Given the description of an element on the screen output the (x, y) to click on. 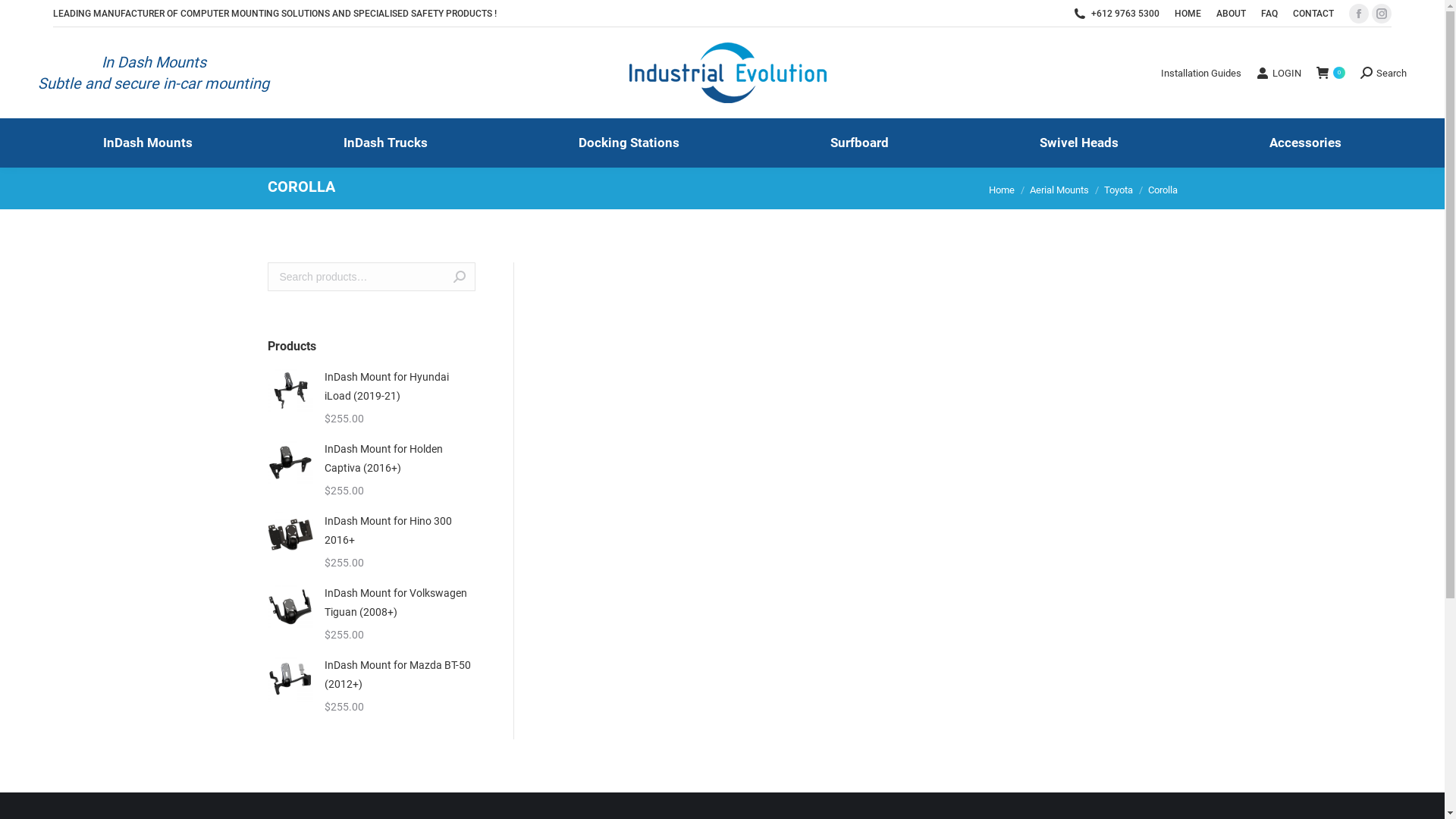
Home Element type: text (1001, 188)
InDash Mounts Element type: text (147, 142)
InDash Mount for Holden Captiva (2016+) Element type: text (399, 458)
Surfboard Element type: text (859, 142)
 0 Element type: text (1330, 72)
Instagram page opens in new window Element type: text (1381, 13)
Docking Stations Element type: text (628, 142)
InDash Mount for Hino 300 2016+ Element type: text (399, 530)
InDash Mount for Volkswagen Tiguan (2008+) Element type: text (399, 602)
FAQ Element type: text (1269, 13)
+612 9763 5300 Element type: text (1125, 13)
LOGIN Element type: text (1278, 72)
Aerial Mounts Element type: text (1058, 188)
Search Element type: text (459, 276)
InDash Mount for Mazda BT-50 (2012+) Element type: text (399, 674)
InDash Mount for Hyundai iLoad (2019-21) Element type: text (399, 386)
Accessories Element type: text (1305, 142)
Search Element type: text (1383, 72)
Toyota Element type: text (1118, 188)
InDash Trucks Element type: text (385, 142)
CONTACT Element type: text (1312, 13)
ABOUT Element type: text (1230, 13)
Go! Element type: text (23, 15)
HOME Element type: text (1187, 13)
Installation Guides Element type: text (1201, 72)
Swivel Heads Element type: text (1079, 142)
Facebook page opens in new window Element type: text (1358, 13)
